Given the description of an element on the screen output the (x, y) to click on. 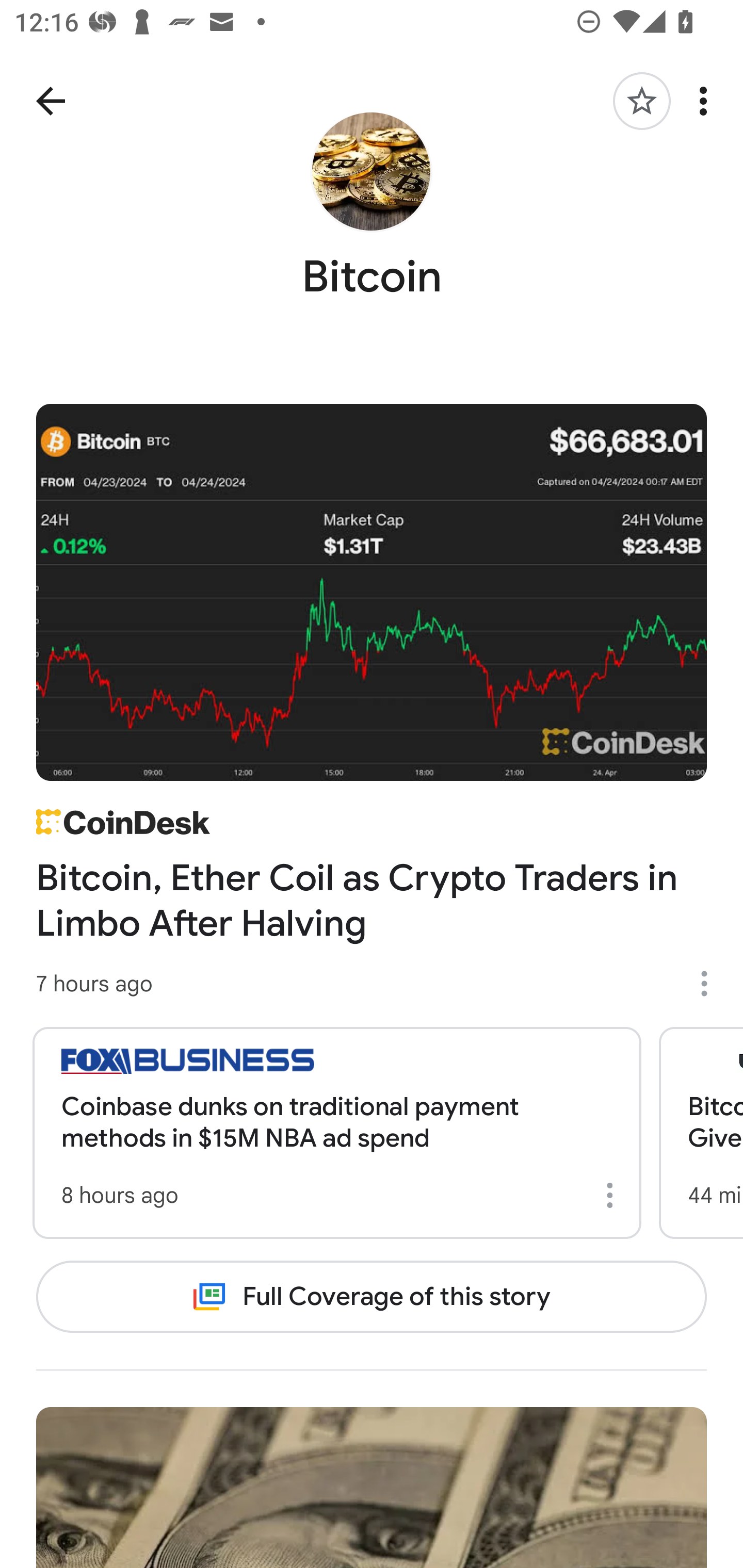
Navigate up (50, 101)
More options (706, 101)
More options (711, 983)
More options (613, 1195)
Full Coverage of this story (371, 1296)
